Given the description of an element on the screen output the (x, y) to click on. 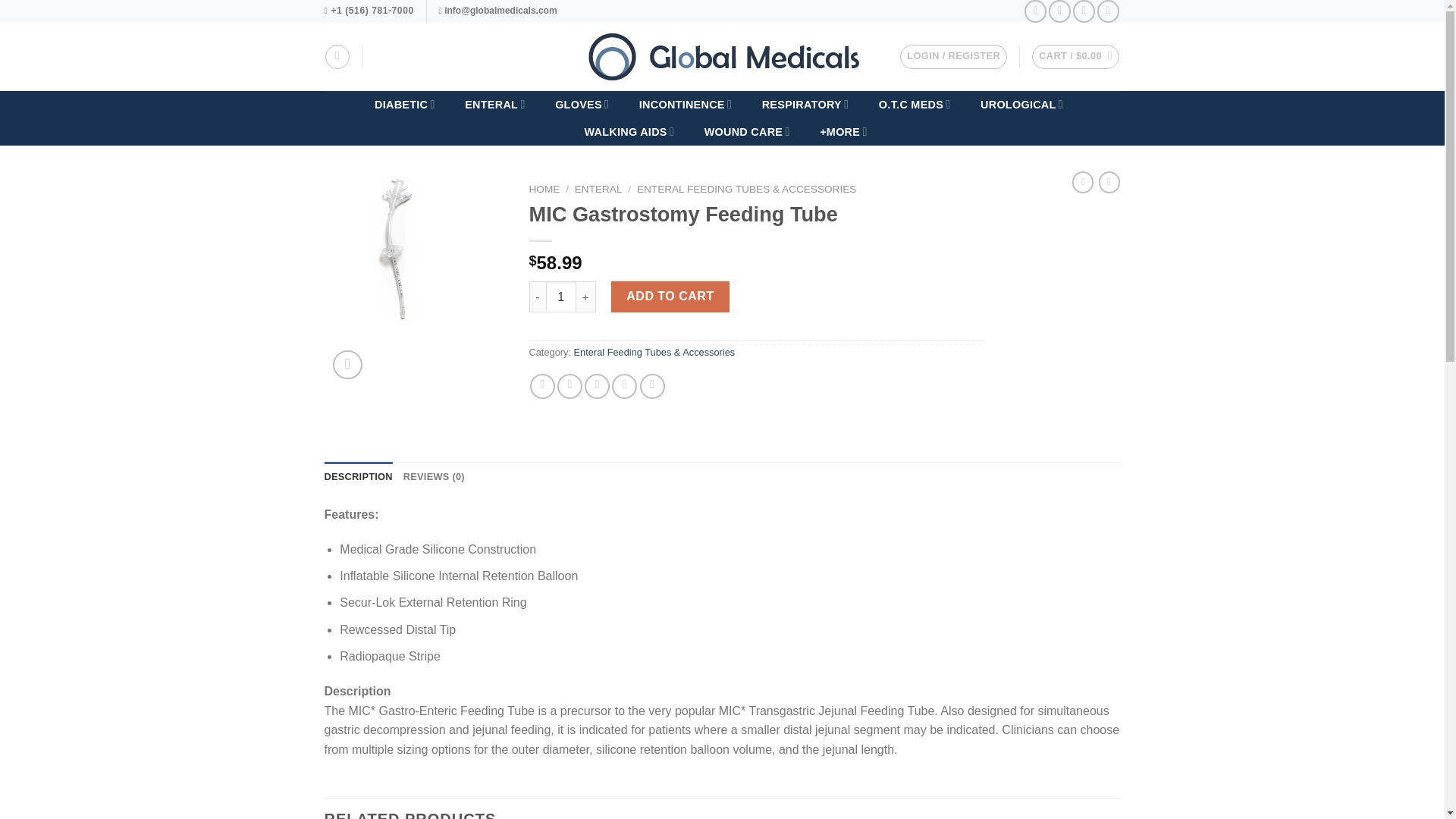
Send us an email (1108, 11)
Cart (1075, 56)
MIC Gastrostomy Feeding Tube (398, 250)
Zoom (347, 365)
Follow on Facebook (1035, 11)
RESPIRATORY (805, 103)
Follow on Instagram (1059, 11)
INCONTINENCE (684, 103)
GLOVES (582, 103)
1 (561, 296)
